Given the description of an element on the screen output the (x, y) to click on. 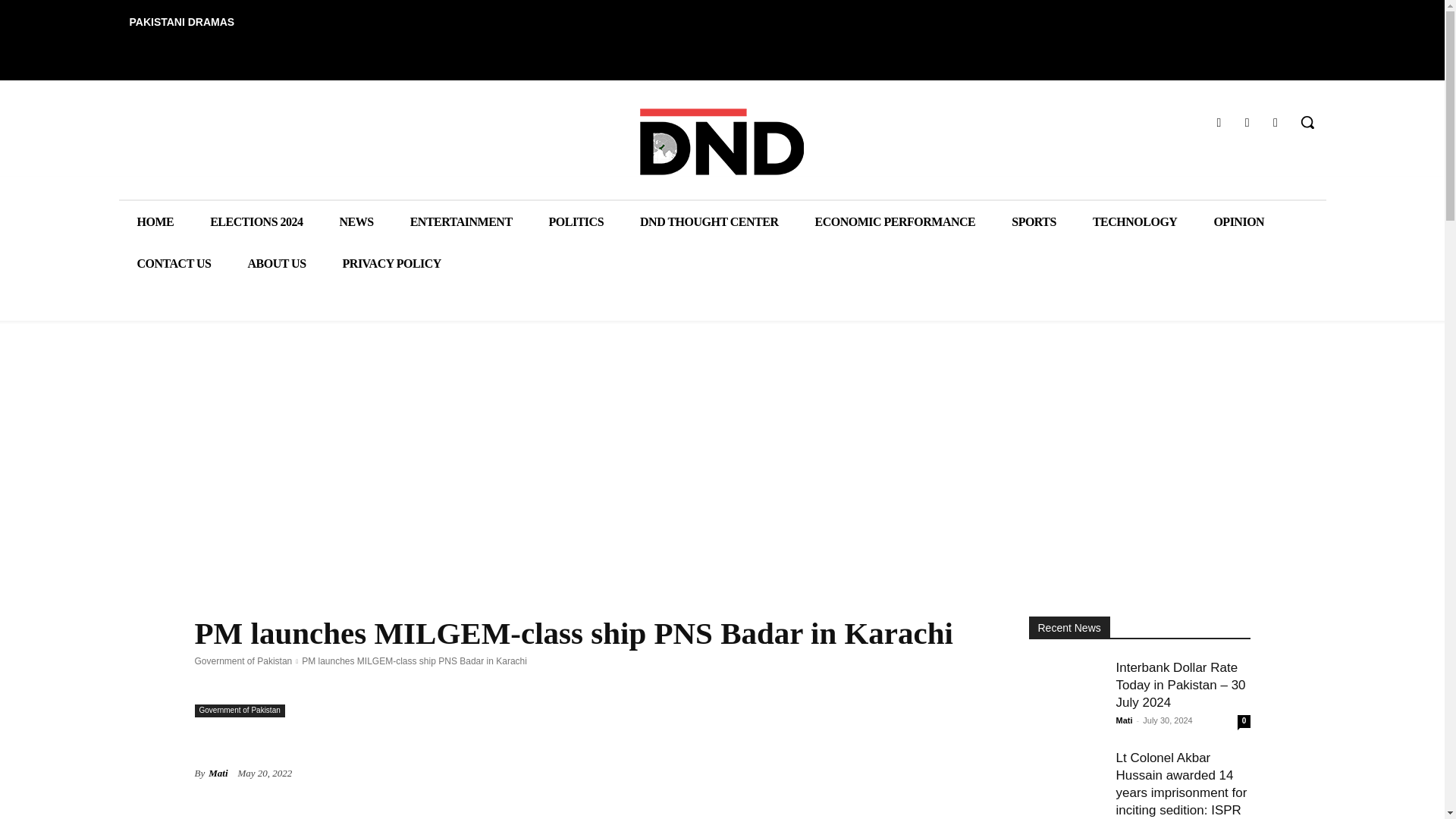
ENTERTAINMENT (461, 221)
NEWS (356, 221)
ECONOMIC PERFORMANCE (894, 221)
PAKISTANI DRAMAS (180, 22)
Instagram (1246, 122)
POLITICS (576, 221)
DND THOUGHT CENTER (708, 221)
SPORTS (1033, 221)
CONTACT US (172, 263)
Twitter (1275, 122)
ELECTIONS 2024 (256, 221)
PRIVACY POLICY (392, 263)
View all posts in Government of Pakistan (242, 661)
HOME (154, 221)
Facebook (1218, 122)
